Given the description of an element on the screen output the (x, y) to click on. 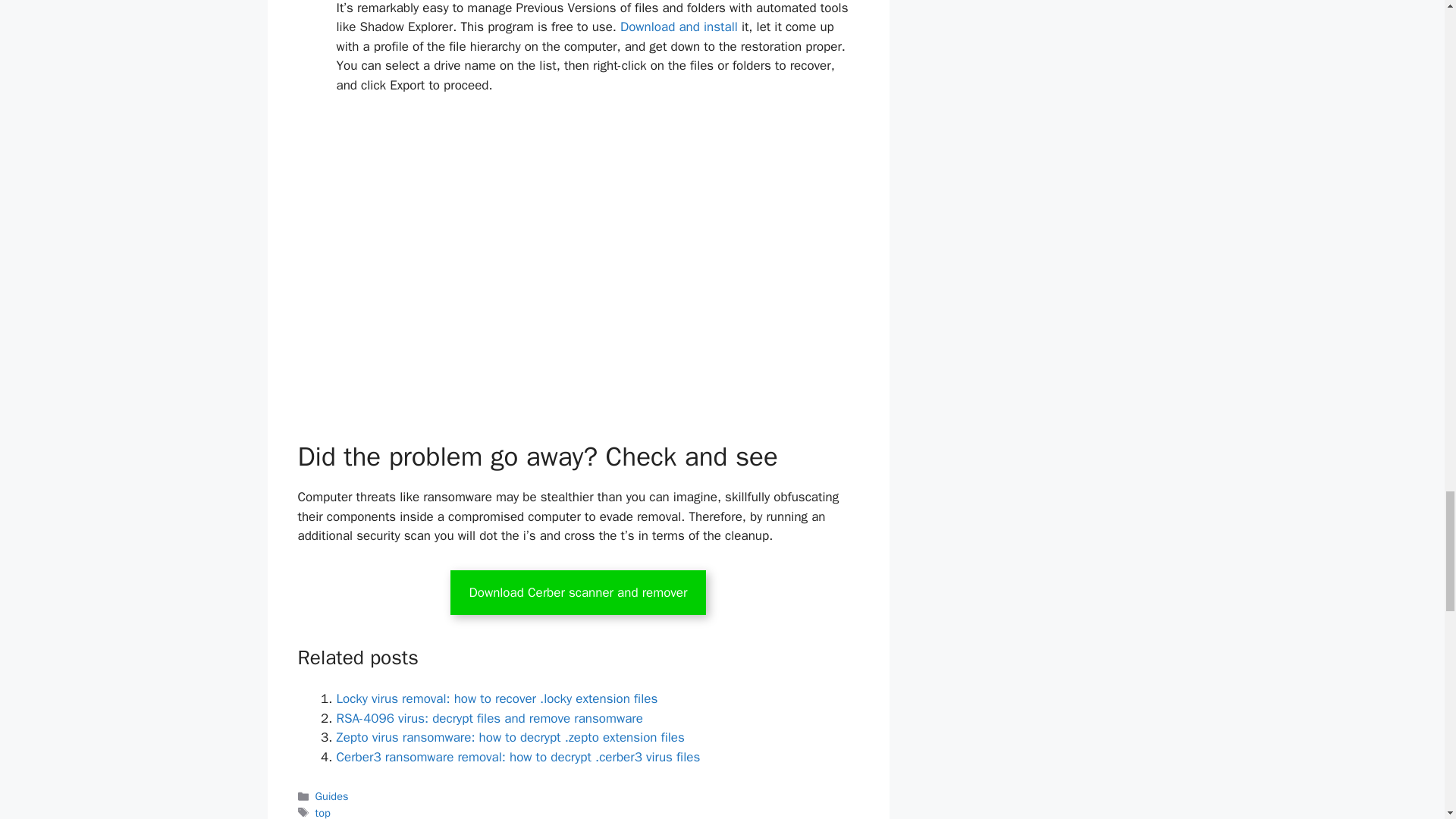
RSA-4096 virus: decrypt files and remove ransomware (489, 718)
top (322, 812)
Locky virus removal: how to recover .locky extension files (497, 698)
Download Cerber scanner and remover (577, 592)
Locky virus removal: how to recover .locky extension files (497, 698)
RSA-4096 virus: decrypt files and remove ransomware (489, 718)
Guides (332, 796)
Download and install (679, 26)
